Given the description of an element on the screen output the (x, y) to click on. 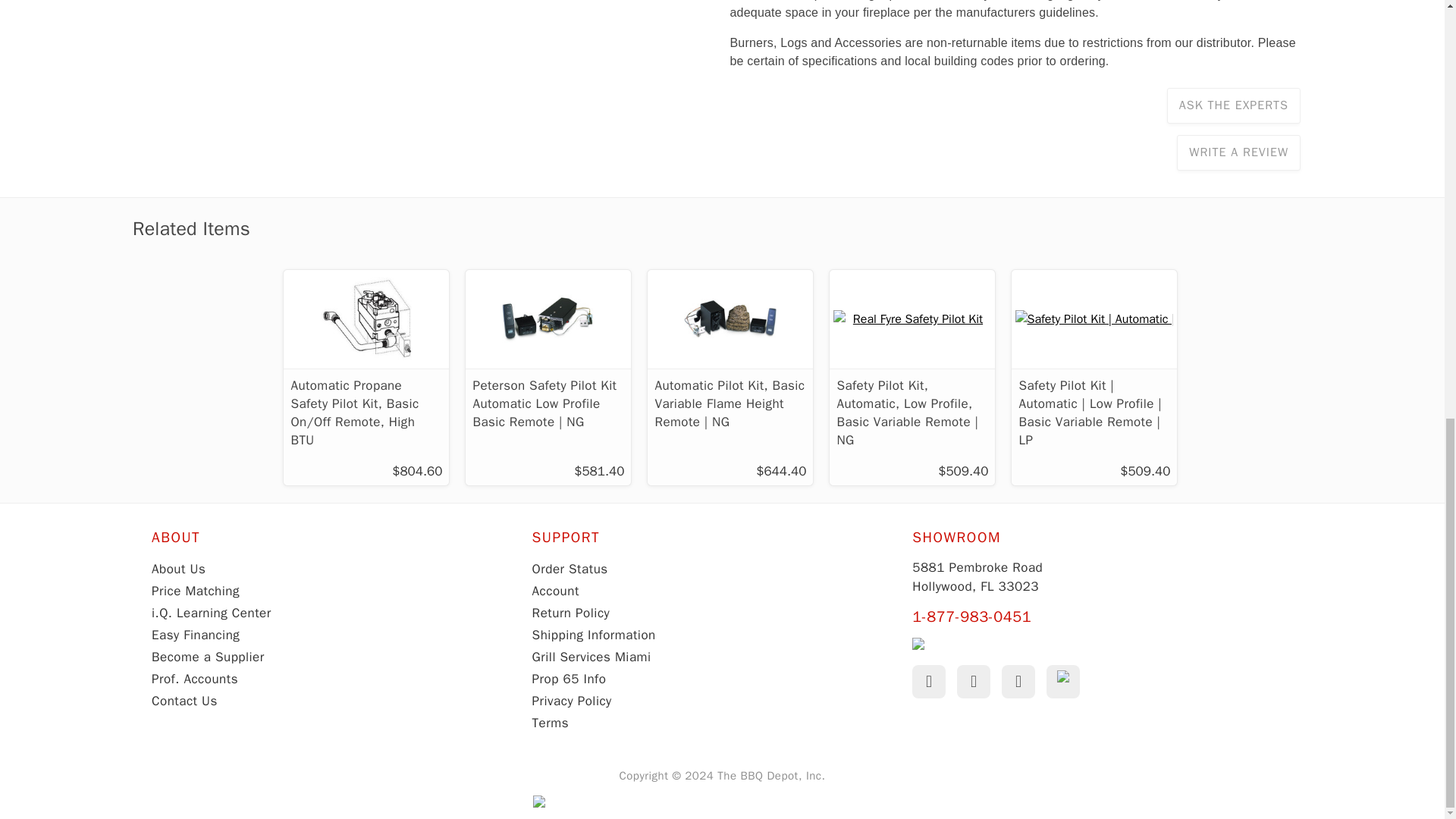
TikTok (1063, 681)
Facebook (928, 681)
ASK THE EXPERTS (1233, 105)
Order Status (570, 569)
Account (555, 590)
Return Policy (571, 612)
Instagram (1018, 681)
Youtube (973, 681)
5881 Pembroke Road (977, 576)
